Given the description of an element on the screen output the (x, y) to click on. 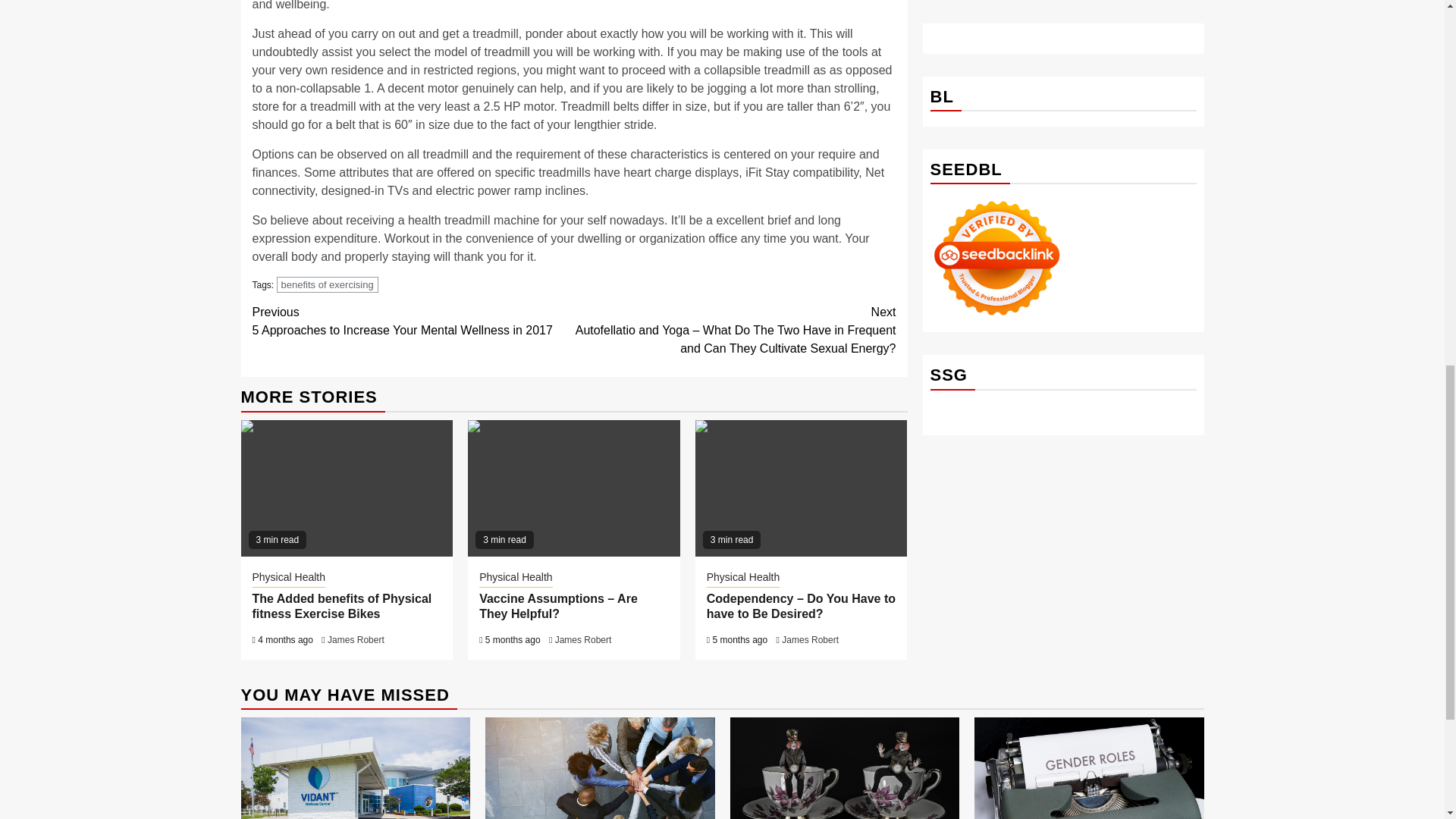
Dealing With Mental Health Concerns In Nigeria (844, 768)
James Robert (809, 639)
Physical Health (743, 578)
Physical Health (516, 578)
James Robert (582, 639)
The Added benefits of Physical fitness Exercise Bikes (346, 488)
benefits of exercising (327, 284)
Discover Vidant Wellness Center: Your Path to Wellness (355, 768)
Physical Health (287, 578)
James Robert (355, 639)
Social Media, Networking and Understanding Administration (1089, 768)
The Added benefits of Physical fitness Exercise Bikes (340, 606)
